Given the description of an element on the screen output the (x, y) to click on. 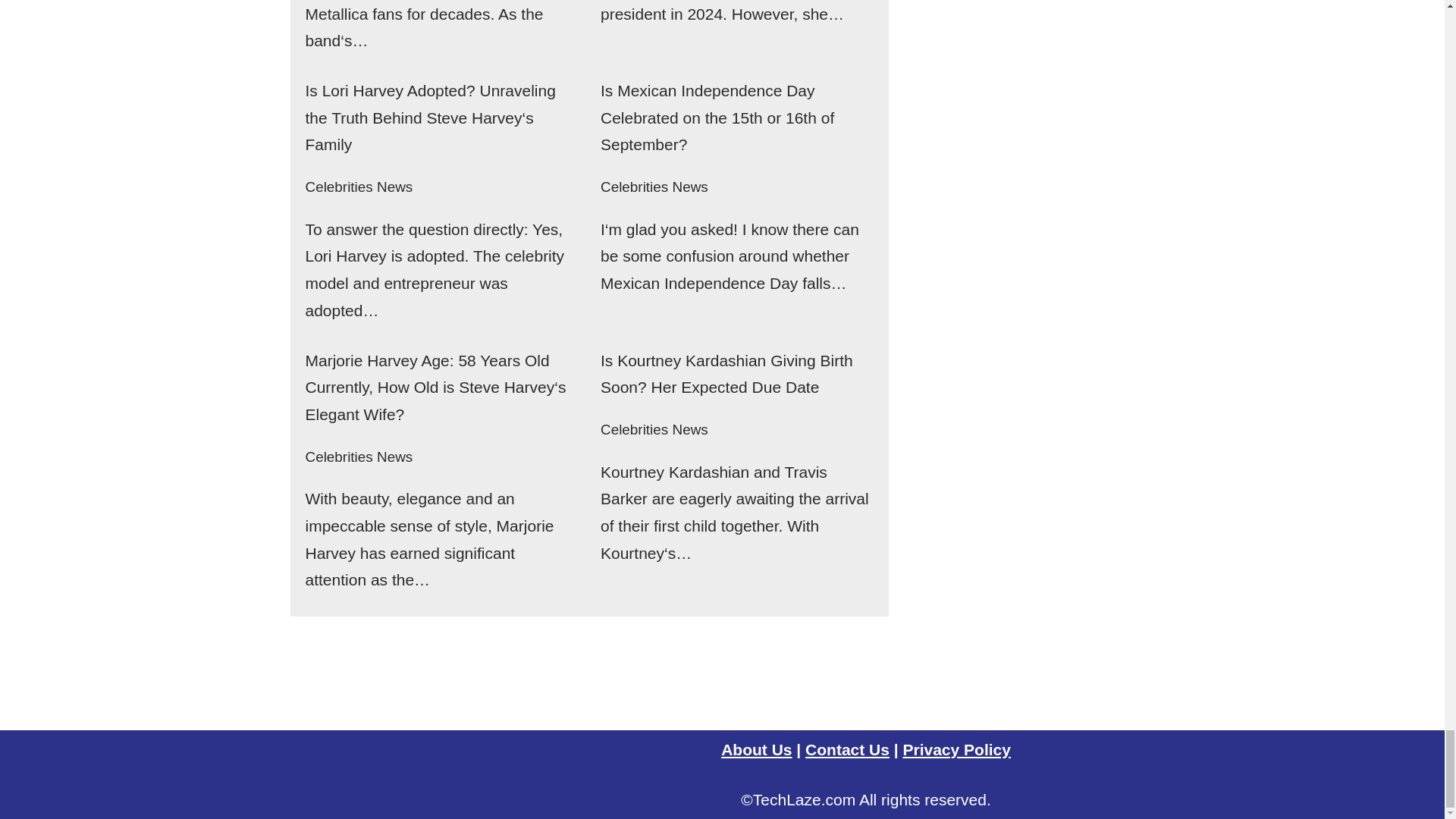
Celebrities News (653, 186)
Celebrities News (358, 186)
